Given the description of an element on the screen output the (x, y) to click on. 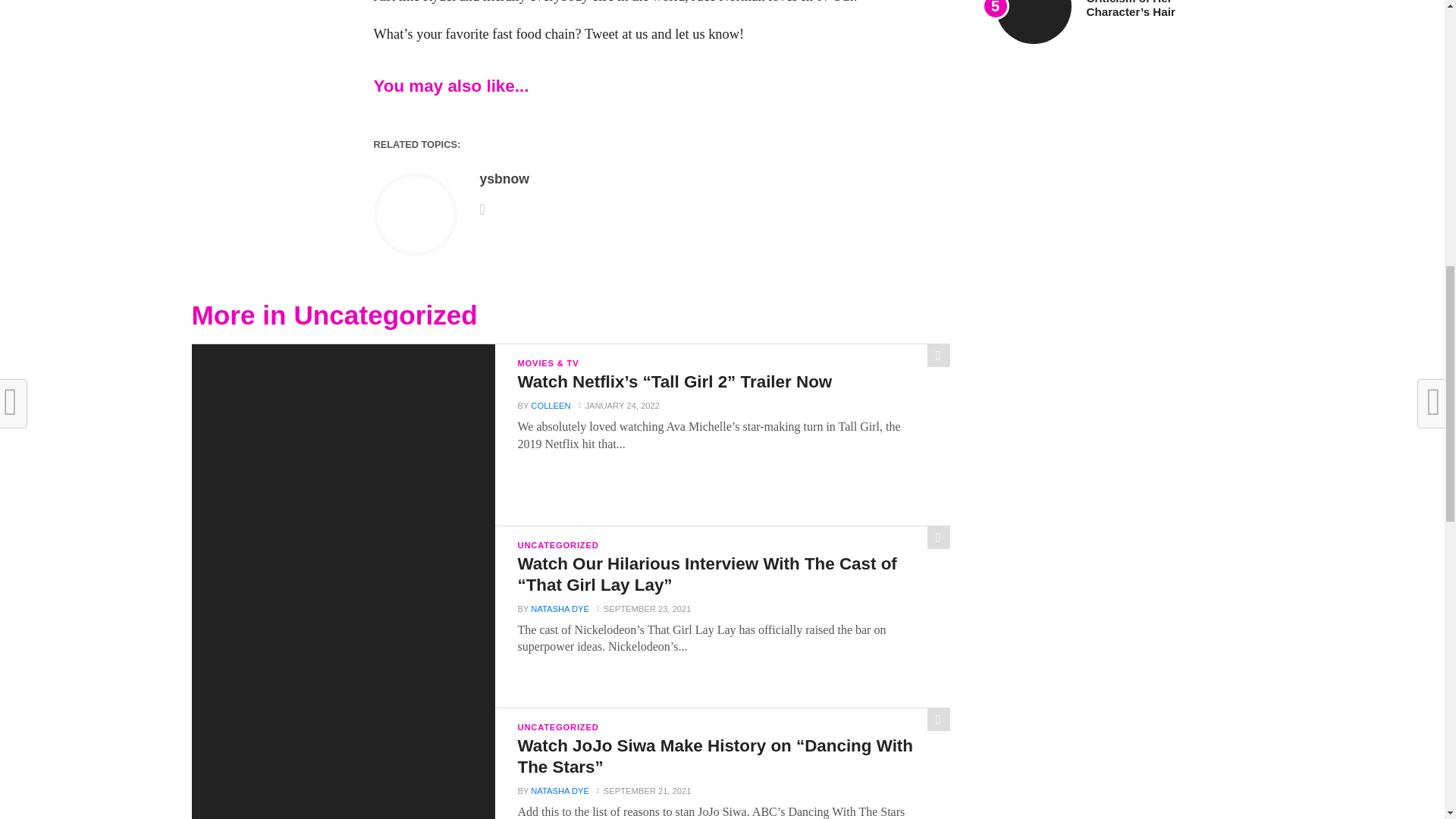
Posts by Natasha Dye (560, 790)
Posts by colleen (550, 405)
Posts by ysbnow (504, 178)
Posts by Natasha Dye (560, 608)
